Given the description of an element on the screen output the (x, y) to click on. 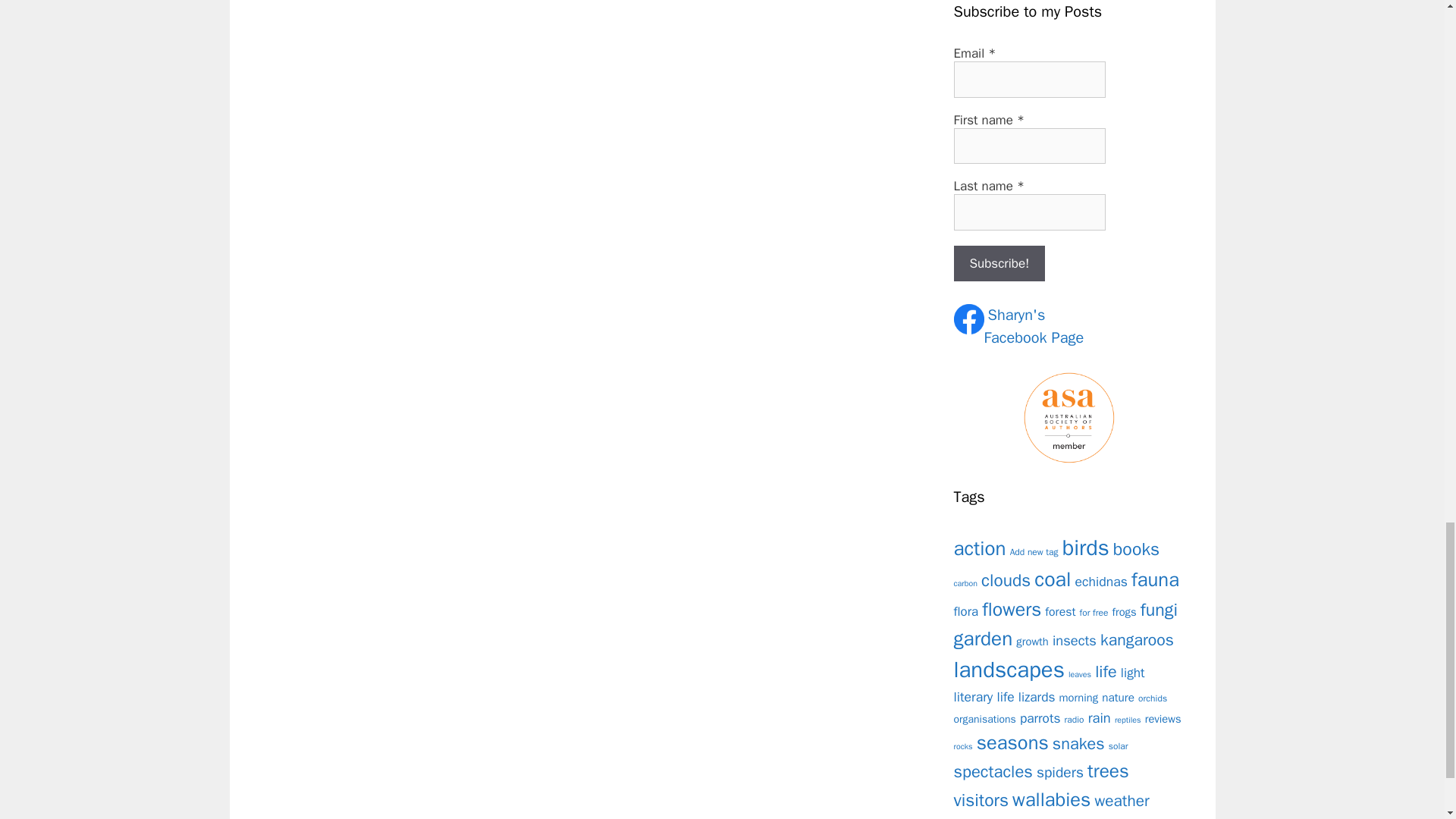
Email (1029, 79)
flora (965, 611)
Subscribe! (999, 263)
for free (1094, 612)
flowers (1034, 326)
forest (1011, 608)
books (1060, 611)
First name (1135, 549)
action (1029, 145)
Last name (979, 548)
birds (1029, 212)
carbon (1085, 547)
echidnas (965, 583)
frogs (1100, 581)
